Given the description of an element on the screen output the (x, y) to click on. 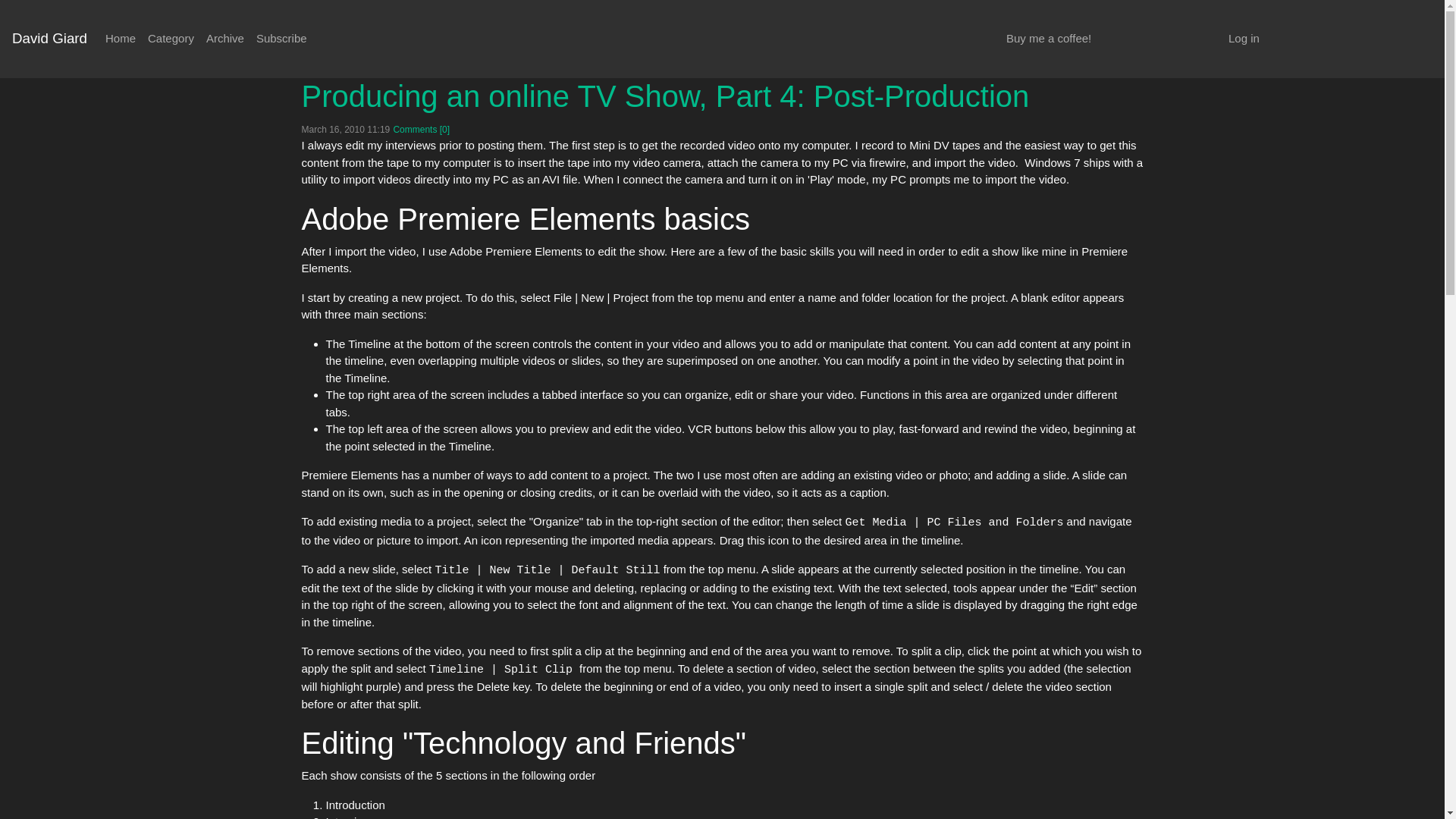
David Giard (49, 39)
Producing an online TV Show, Part 4: Post-Production (665, 95)
Category (170, 39)
Home (120, 39)
Archive (225, 39)
Log in (1244, 39)
Subscribe (281, 39)
Buy me a coffee! (1048, 39)
